Given the description of an element on the screen output the (x, y) to click on. 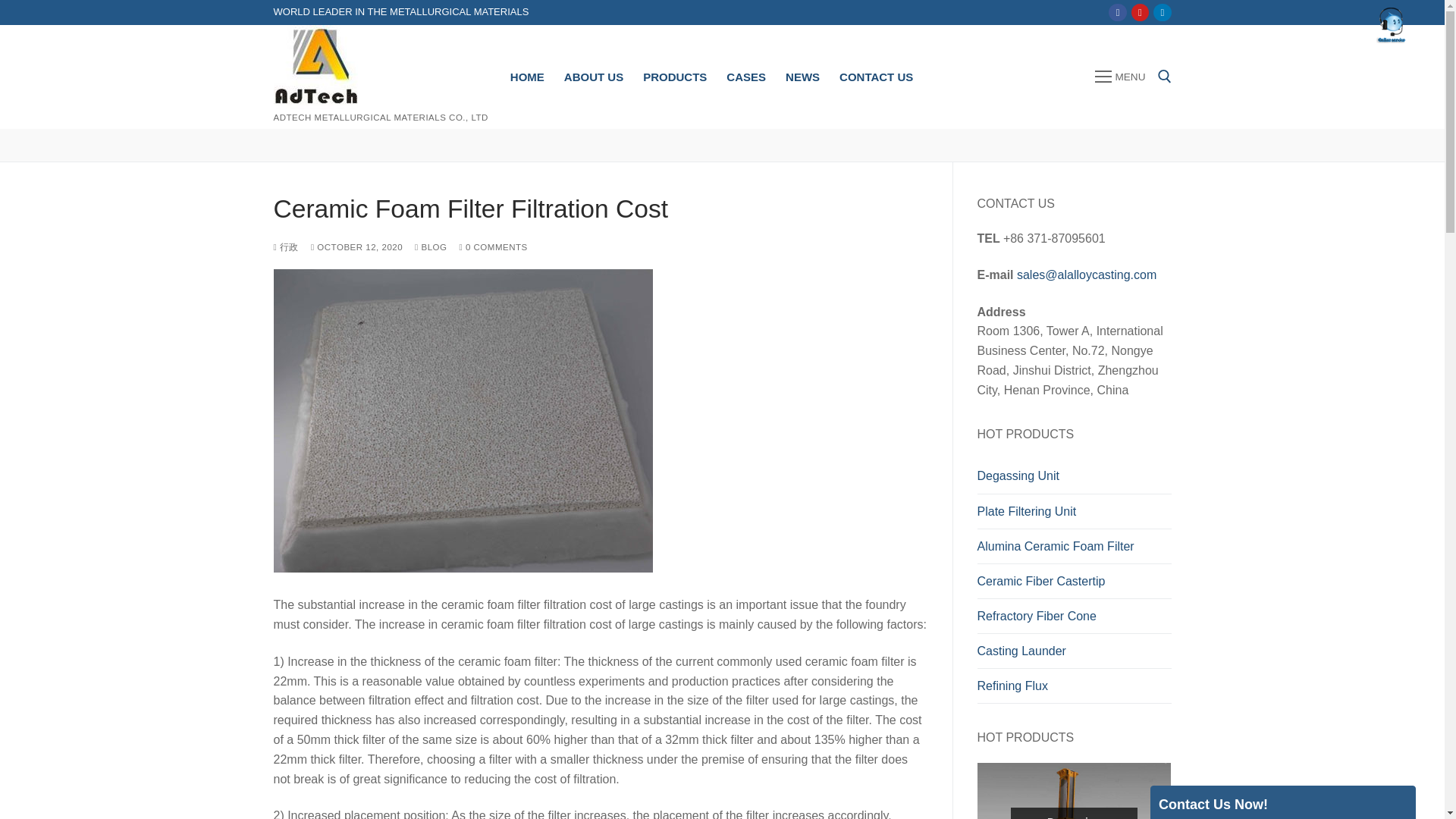
Facebook (1117, 12)
PRODUCTS (674, 76)
ABOUT US (593, 76)
HOME (527, 76)
Youtube (1139, 12)
Linkedin (1162, 12)
